Given the description of an element on the screen output the (x, y) to click on. 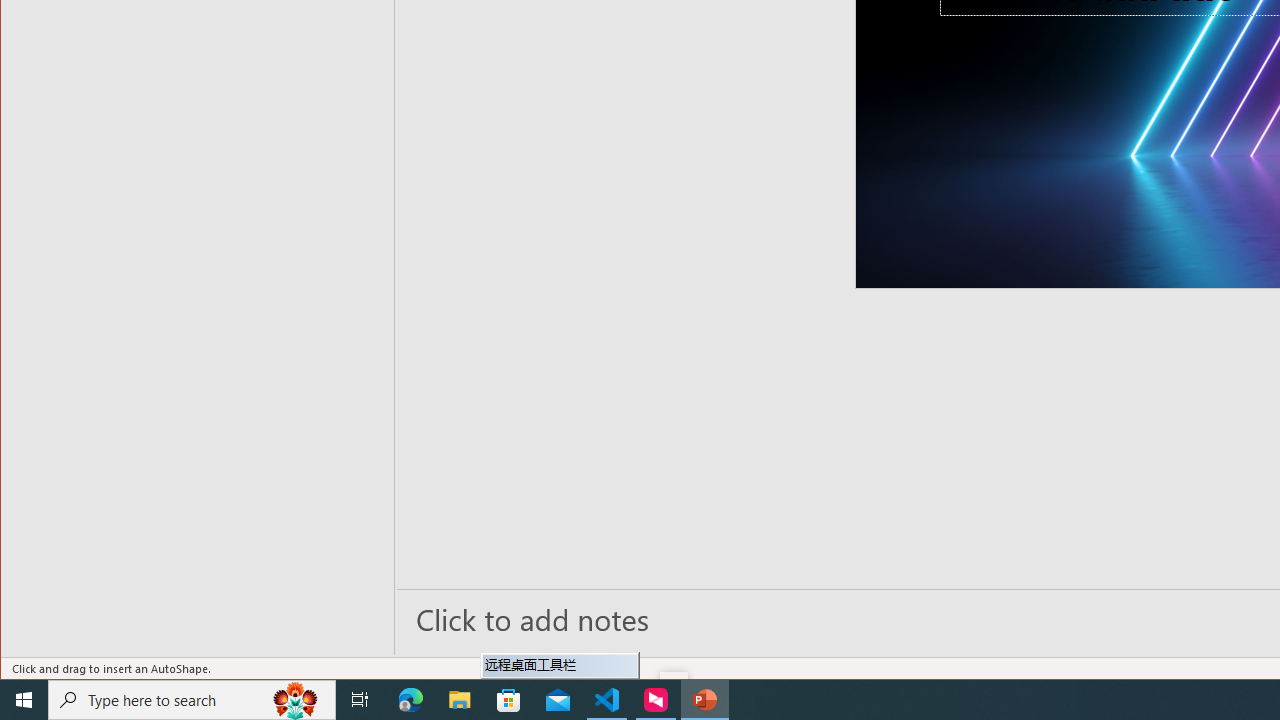
Task View (359, 699)
Visual Studio Code - 1 running window (607, 699)
PowerPoint - 1 running window (704, 699)
Search highlights icon opens search home window (295, 699)
Start (24, 699)
Type here to search (191, 699)
Microsoft Edge (411, 699)
File Explorer (460, 699)
Microsoft Store (509, 699)
